Given the description of an element on the screen output the (x, y) to click on. 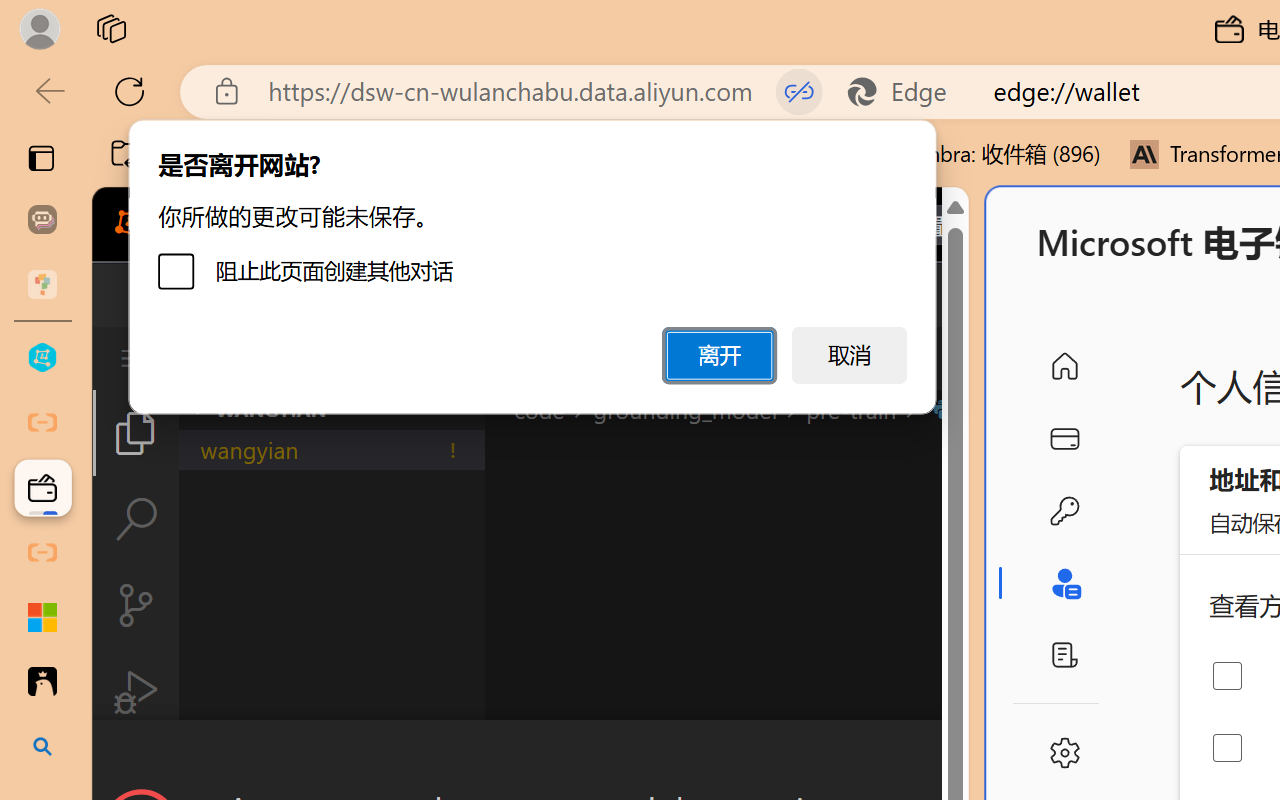
Class: actions-container (529, 756)
Close Dialog (959, 756)
Adjust indents and spacing - Microsoft Support (42, 617)
Run and Debug (Ctrl+Shift+D) (135, 692)
